Given the description of an element on the screen output the (x, y) to click on. 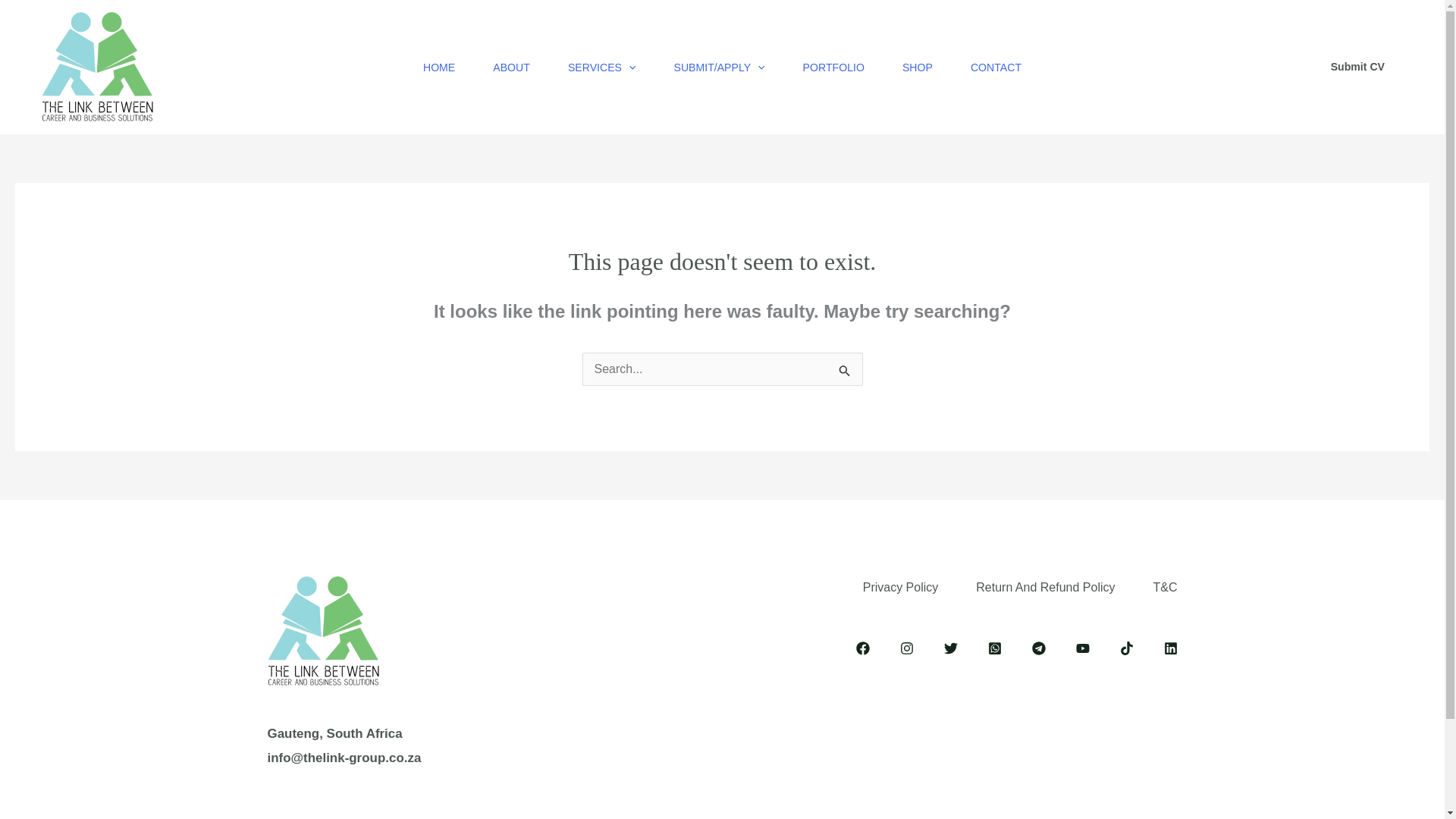
Search (844, 373)
CONTACT (996, 66)
PORTFOLIO (833, 66)
Search (844, 373)
SHOP (917, 66)
Search (844, 373)
ABOUT (511, 66)
Submit CV (1358, 66)
SERVICES (601, 66)
HOME (439, 66)
